Given the description of an element on the screen output the (x, y) to click on. 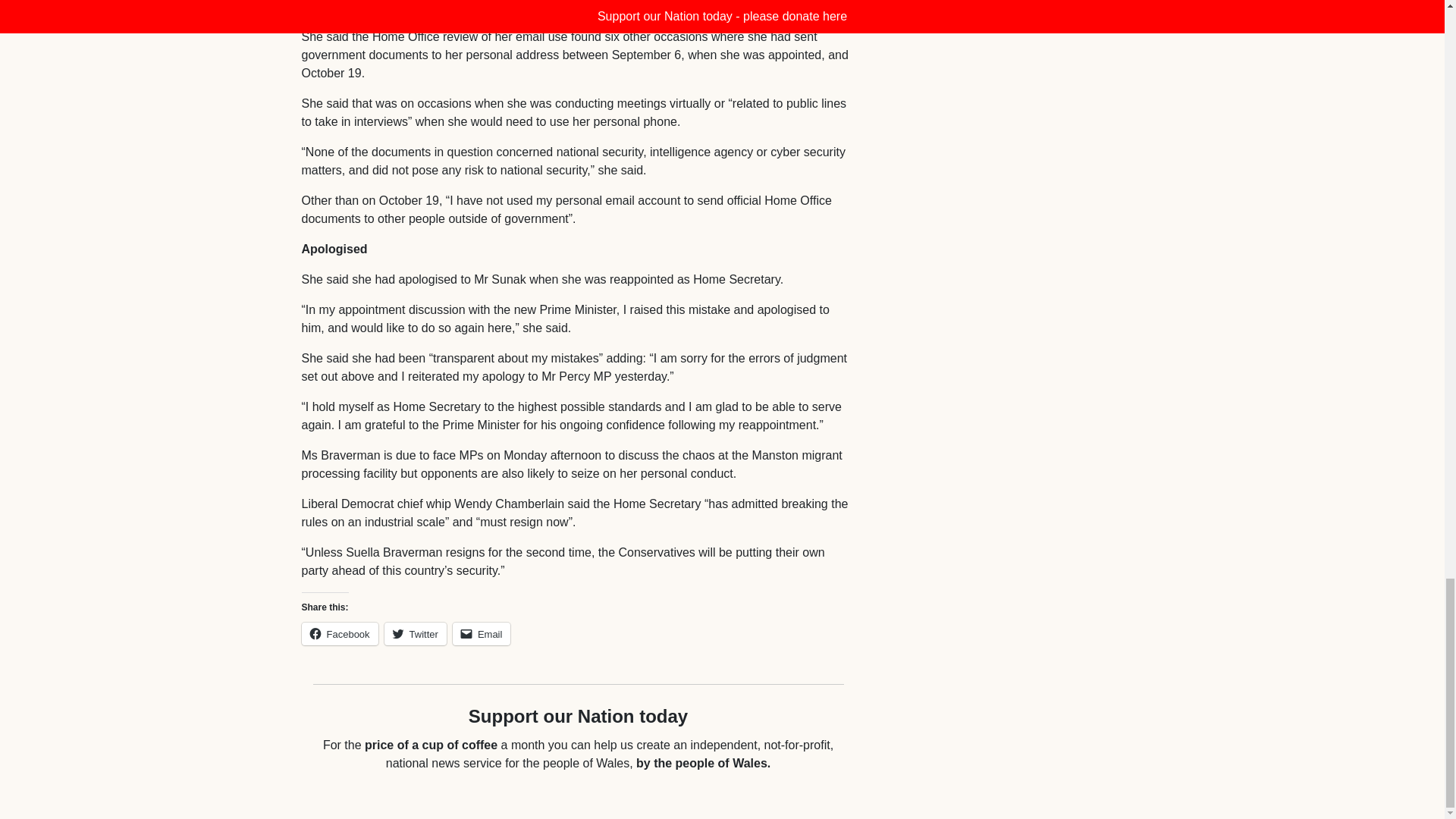
Email (481, 633)
Facebook (339, 633)
Click to share on Twitter (415, 633)
Click to email a link to a friend (481, 633)
Click to share on Facebook (339, 633)
Twitter (415, 633)
